Given the description of an element on the screen output the (x, y) to click on. 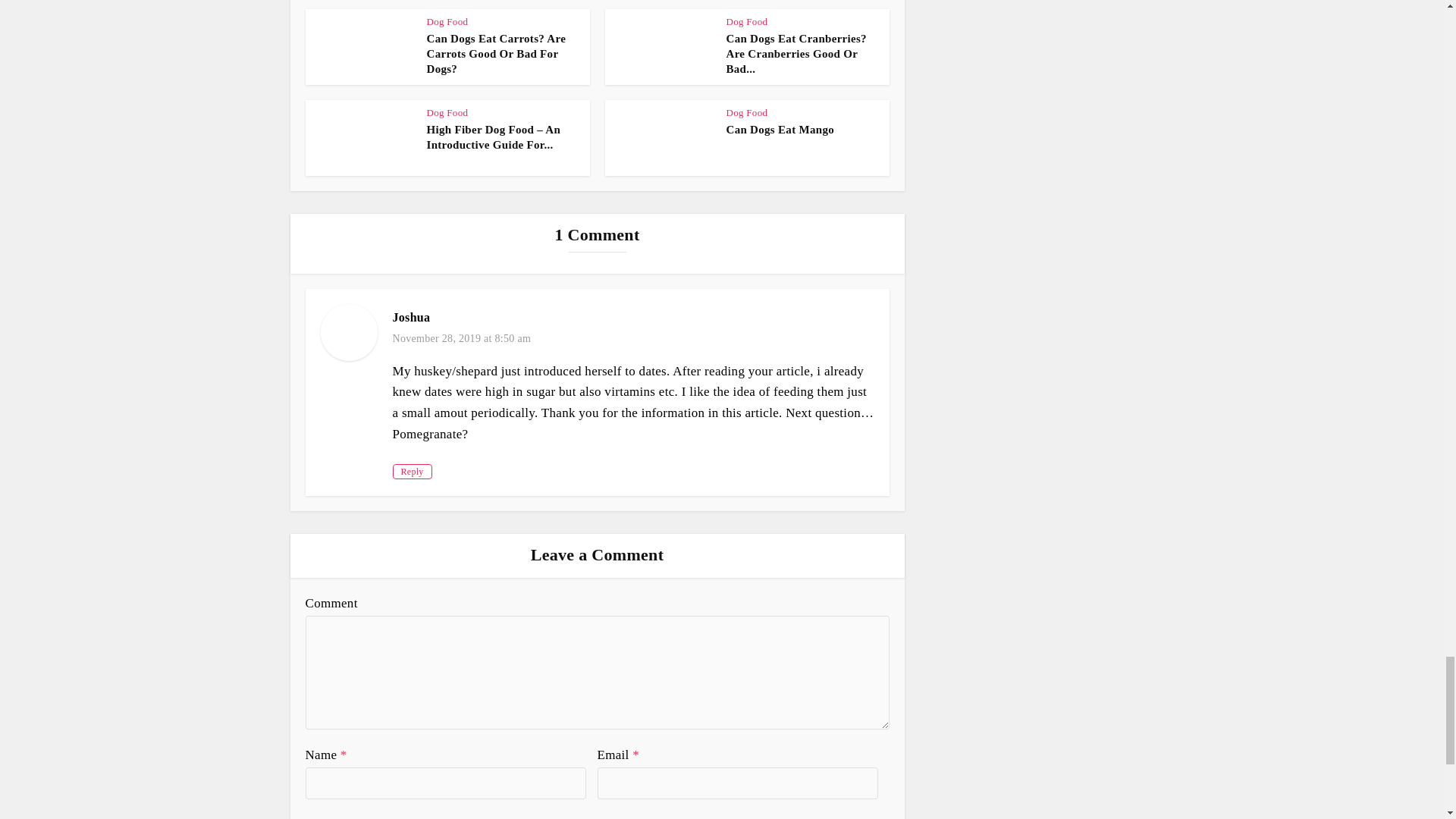
Can Dogs Eat Carrots? Are Carrots Good Or Bad For Dogs? (496, 54)
Can Dogs Eat Mango (780, 129)
